Given the description of an element on the screen output the (x, y) to click on. 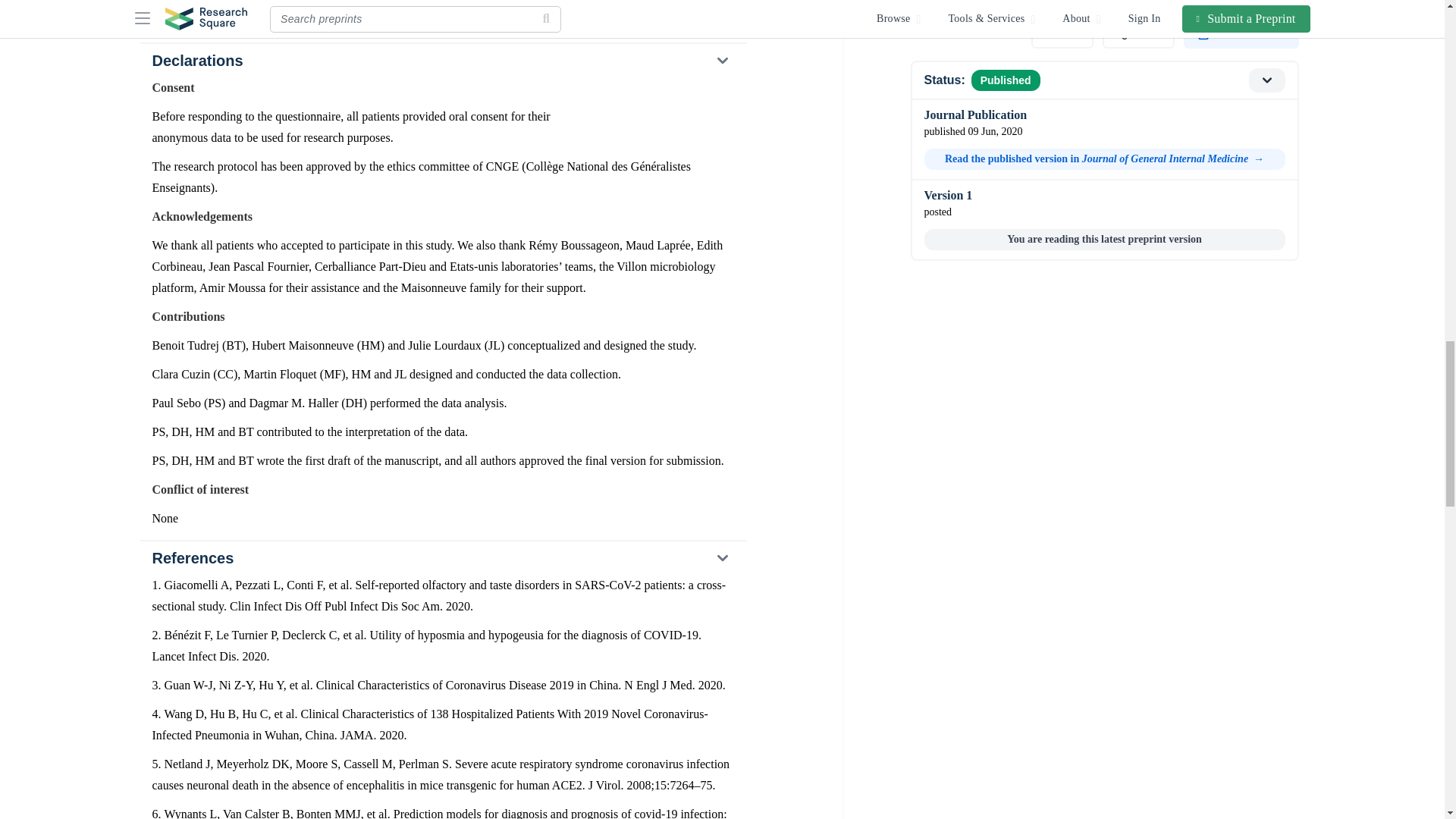
Declarations (442, 60)
References (442, 557)
